Given the description of an element on the screen output the (x, y) to click on. 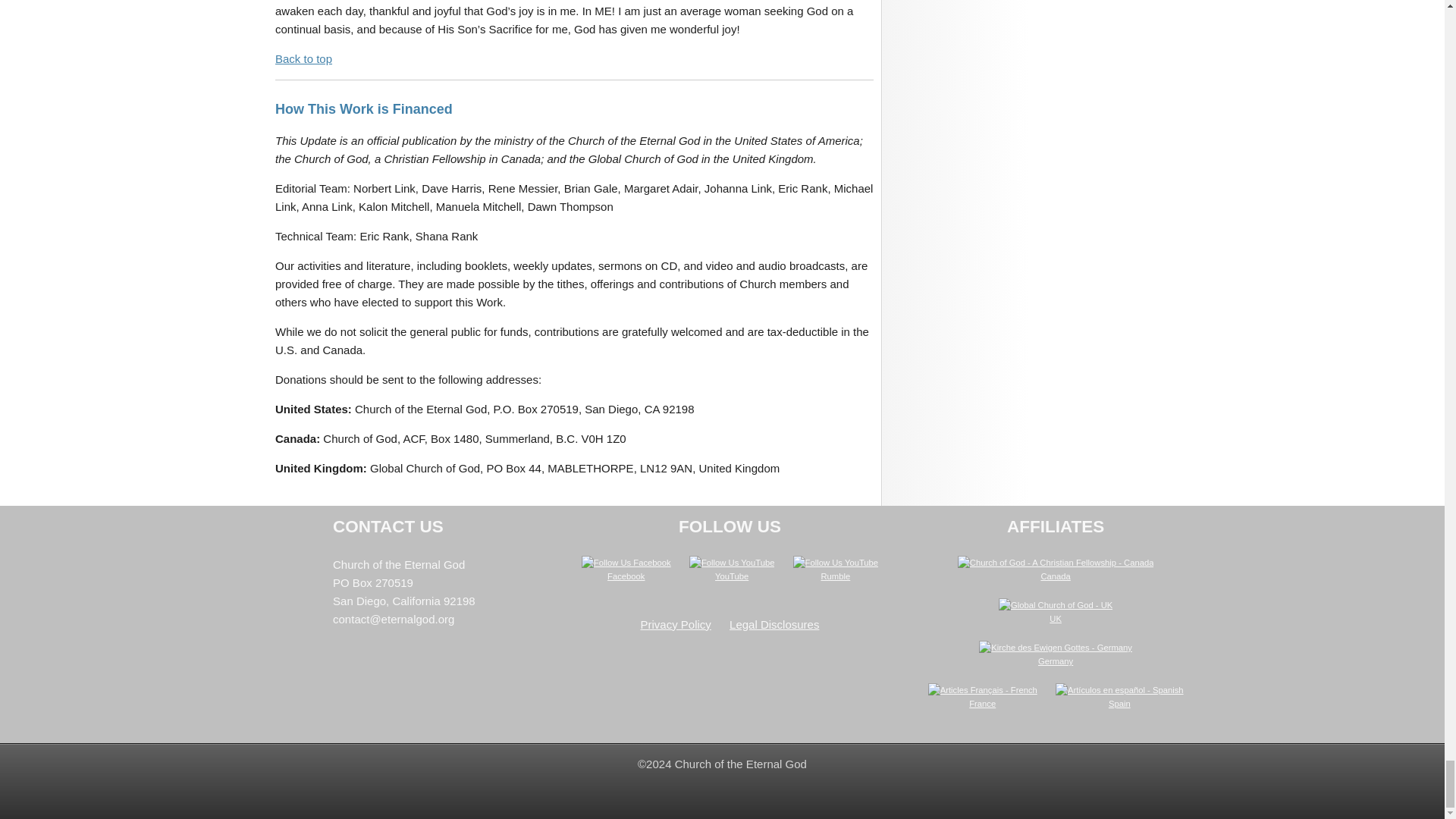
Church of God - A Christian Fellowship - Canada (1056, 562)
Kirche des Ewigen Gottes - Germany (1055, 647)
Global Church of God - UK (1055, 604)
Follow Us YouTube (731, 562)
Follow Us Facebook (625, 562)
Follow Us YouTube (836, 562)
